Given the description of an element on the screen output the (x, y) to click on. 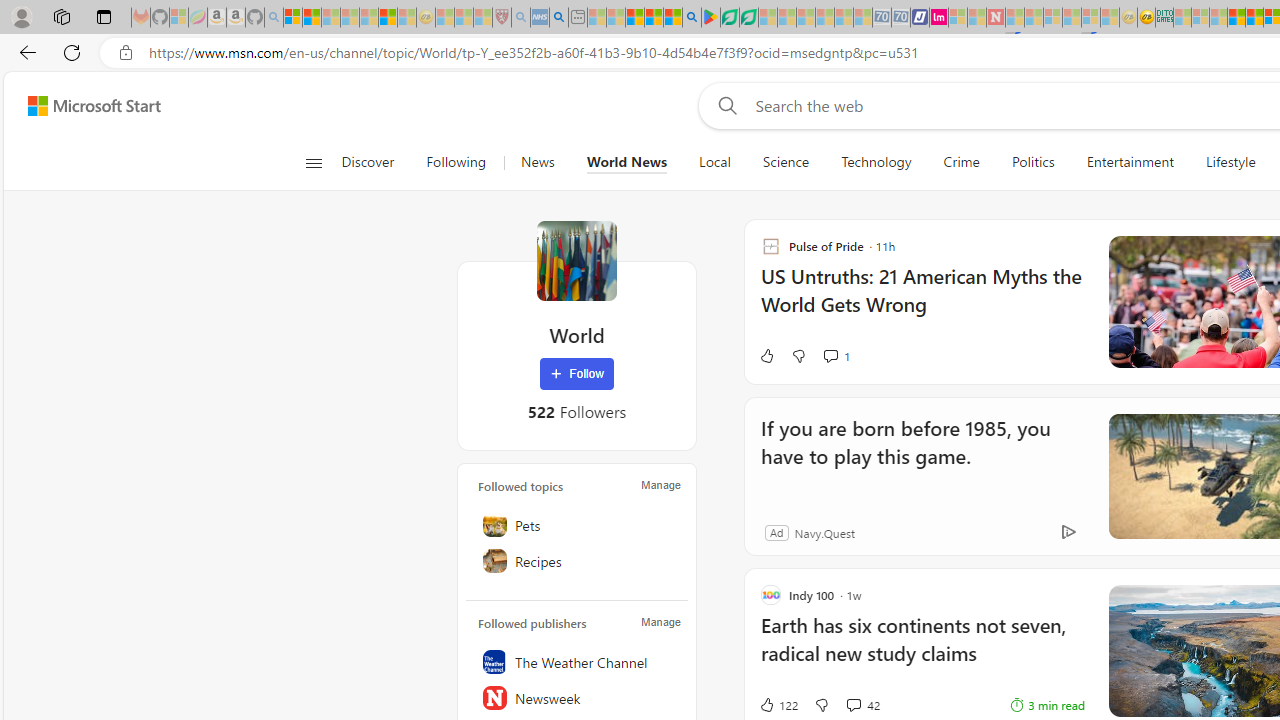
Microsoft Word - consumer-privacy address update 2.2021 (748, 17)
The Weather Channel (577, 661)
Skip to footer (82, 105)
US Untruths: 21 American Myths the World Gets Wrong (922, 300)
Local (715, 162)
Latest Politics News & Archive | Newsweek.com - Sleeping (995, 17)
Politics (1032, 162)
MSNBC - MSN - Sleeping (1182, 17)
Technology (875, 162)
Entertainment (1130, 162)
